Given the description of an element on the screen output the (x, y) to click on. 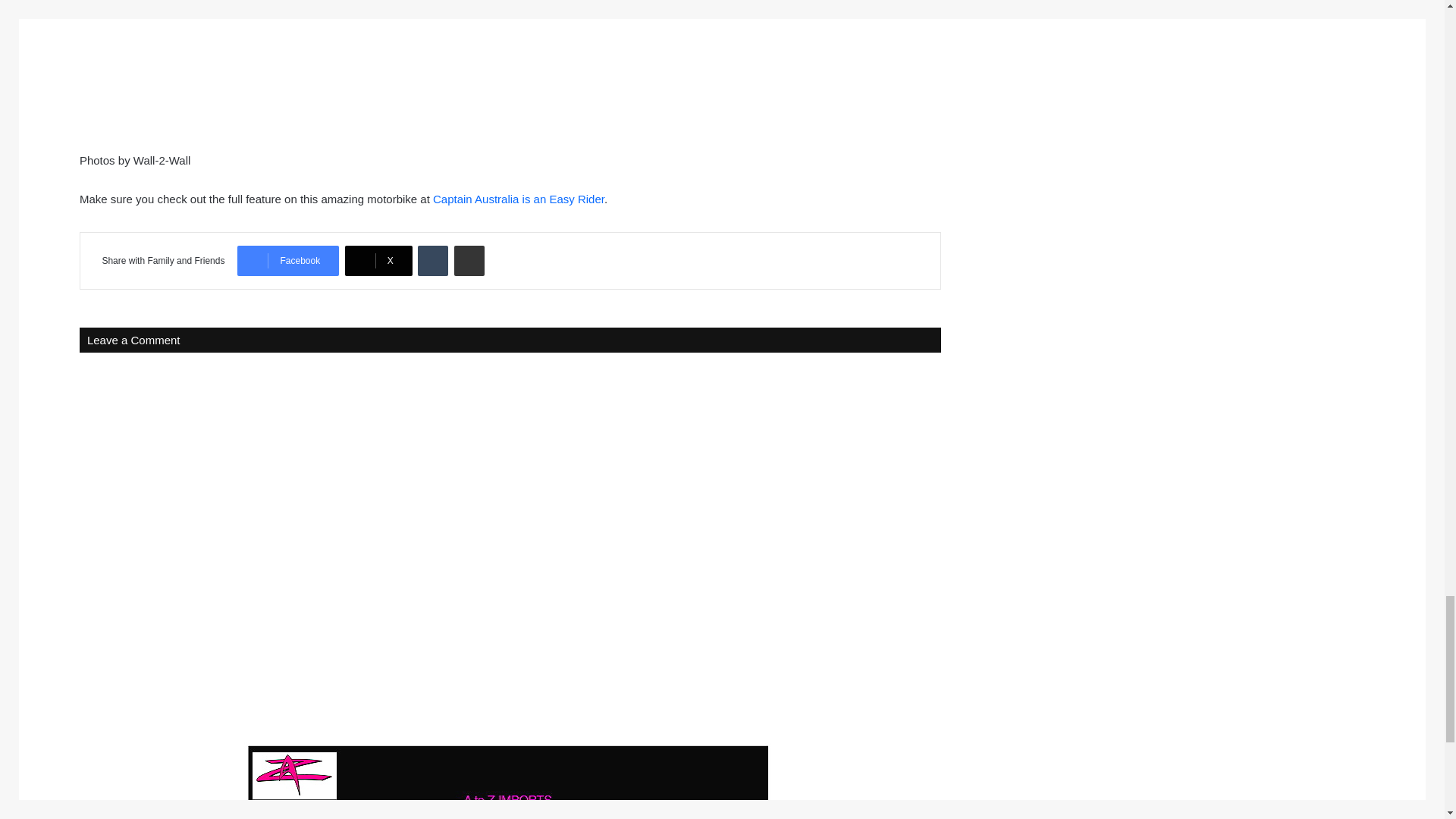
Facebook (288, 260)
Share via Email (469, 260)
Facebook (288, 260)
X (378, 260)
Captain Australia is an Easy Rider (518, 198)
X (378, 260)
Tumblr (432, 260)
Tumblr (432, 260)
